Given the description of an element on the screen output the (x, y) to click on. 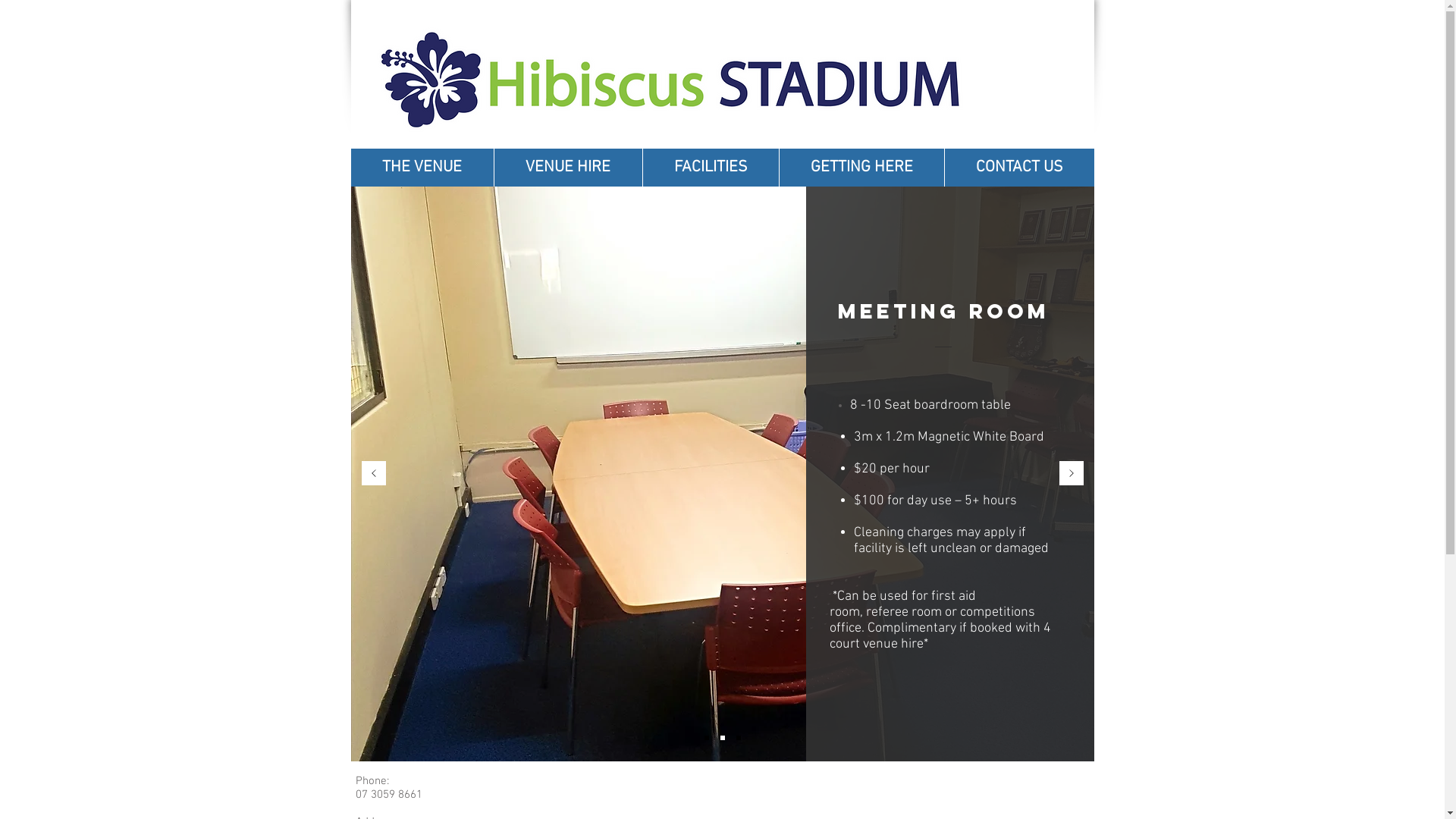
FACILITIES Element type: text (709, 167)
VENUE HIRE Element type: text (566, 167)
CONTACT US Element type: text (1018, 167)
EHI630543-67ea46c16950436a9a7ca8a292733c Element type: hover (671, 89)
GETTING HERE Element type: text (860, 167)
THE VENUE Element type: text (421, 167)
